Given the description of an element on the screen output the (x, y) to click on. 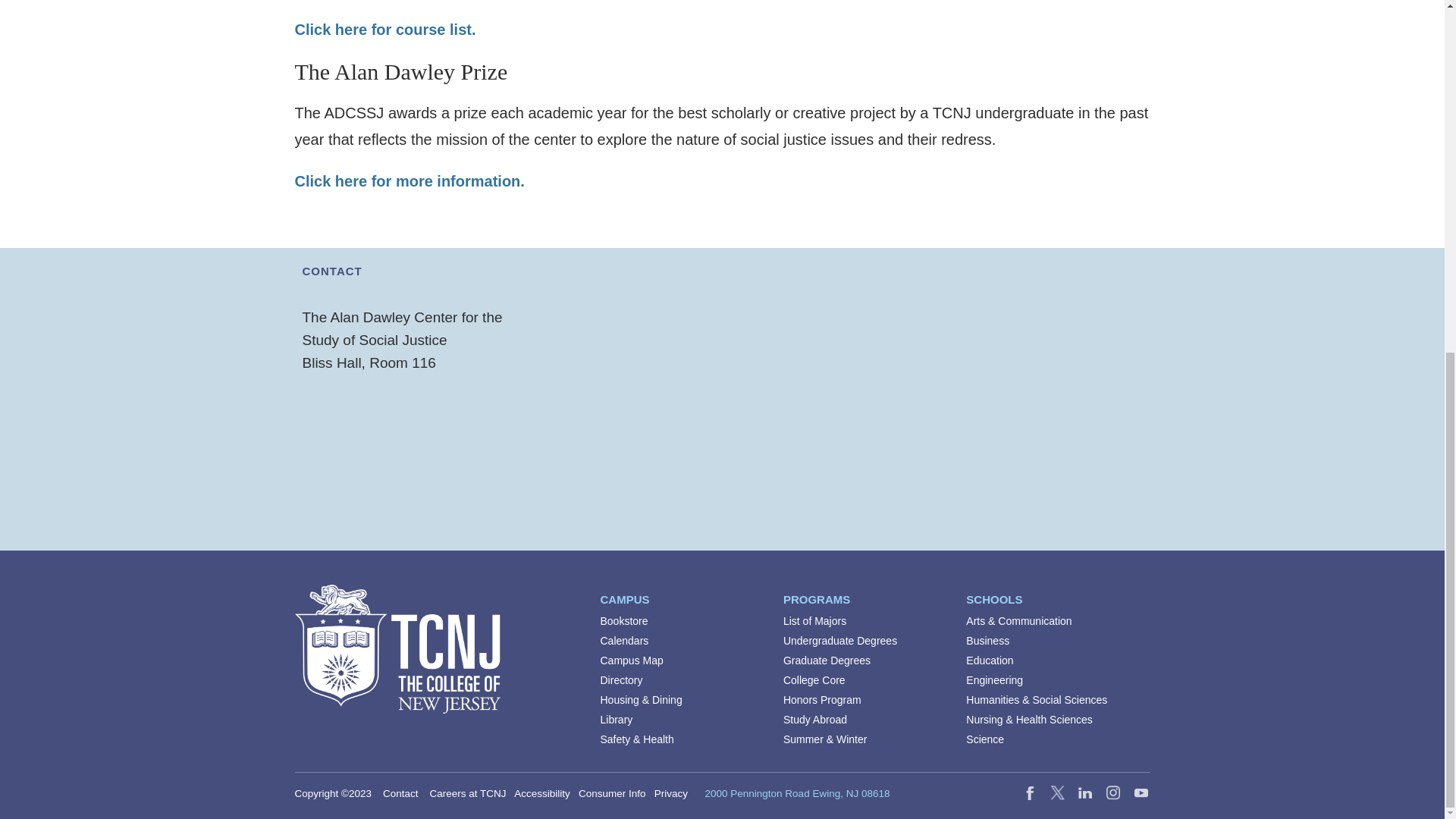
Click here for more information. (409, 180)
Bookstore (623, 621)
Click here for course list. (385, 29)
Calendars (624, 640)
Campus Map (631, 660)
Library (616, 719)
Directory (621, 680)
